Given the description of an element on the screen output the (x, y) to click on. 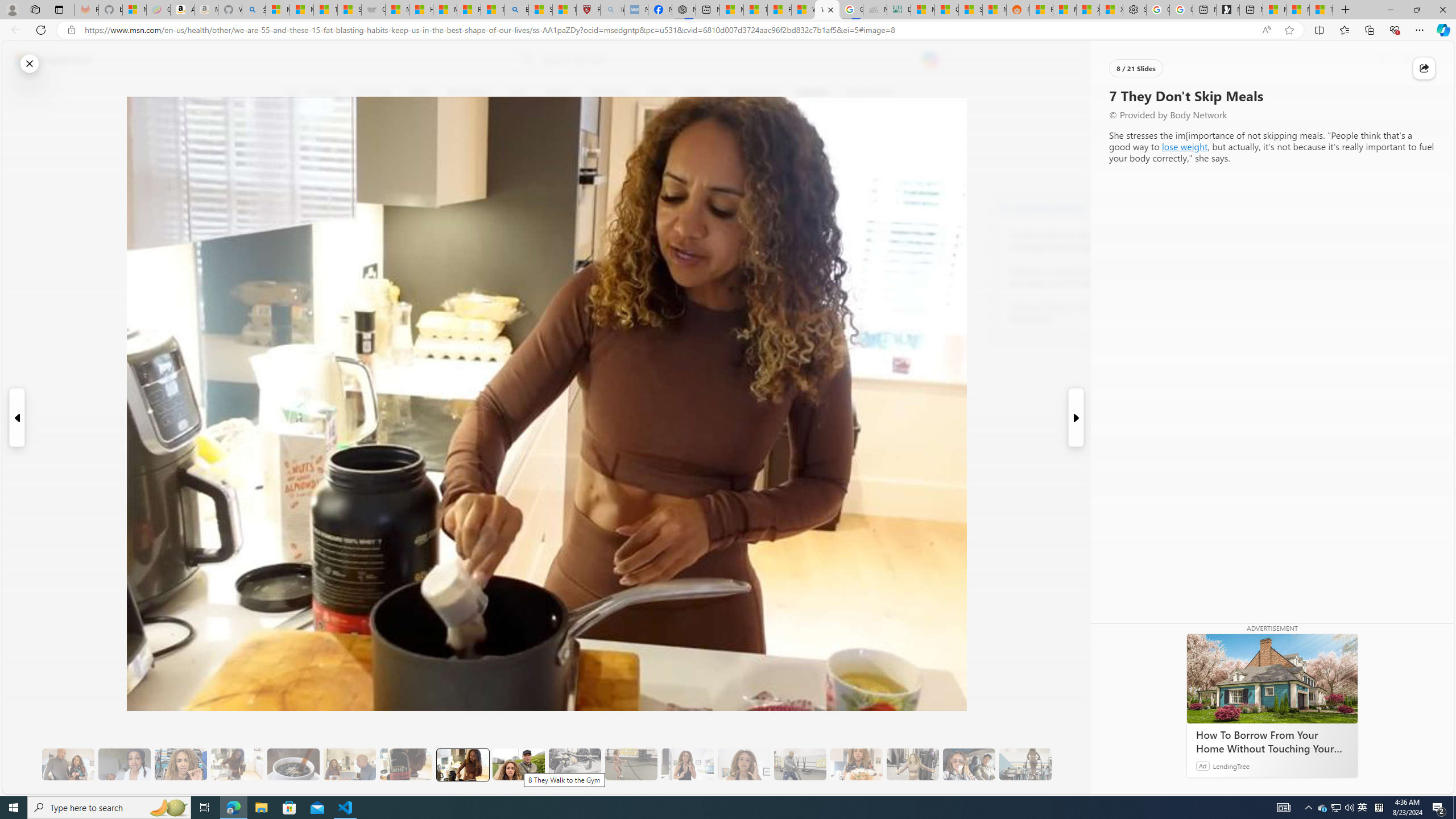
Local (517, 92)
6 (299, 170)
2 They Use Protein Powder for Flavor (180, 764)
5 She Eats Less Than Her Husband (349, 764)
Body Network (1004, 207)
Following (373, 92)
6 Like (299, 138)
list of asthma inhalers uk - Search - Sleeping (611, 9)
Local (517, 92)
Fitness - MSN (779, 9)
